Given the description of an element on the screen output the (x, y) to click on. 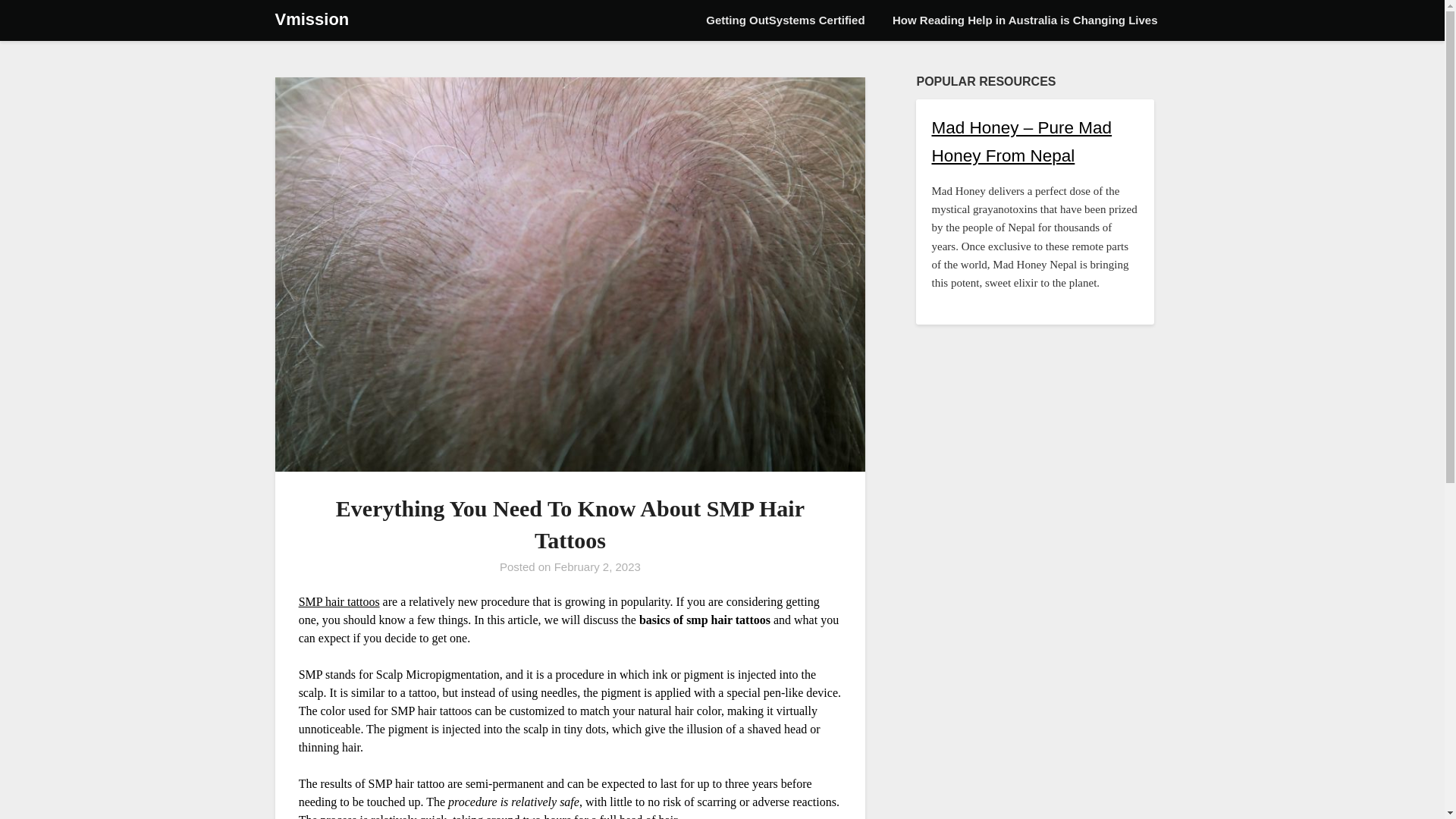
How Reading Help in Australia is Changing Lives (1025, 20)
Vmission (312, 19)
February 2, 2023 (597, 566)
SMP hair tattoos (339, 600)
Getting OutSystems Certified (785, 20)
